Given the description of an element on the screen output the (x, y) to click on. 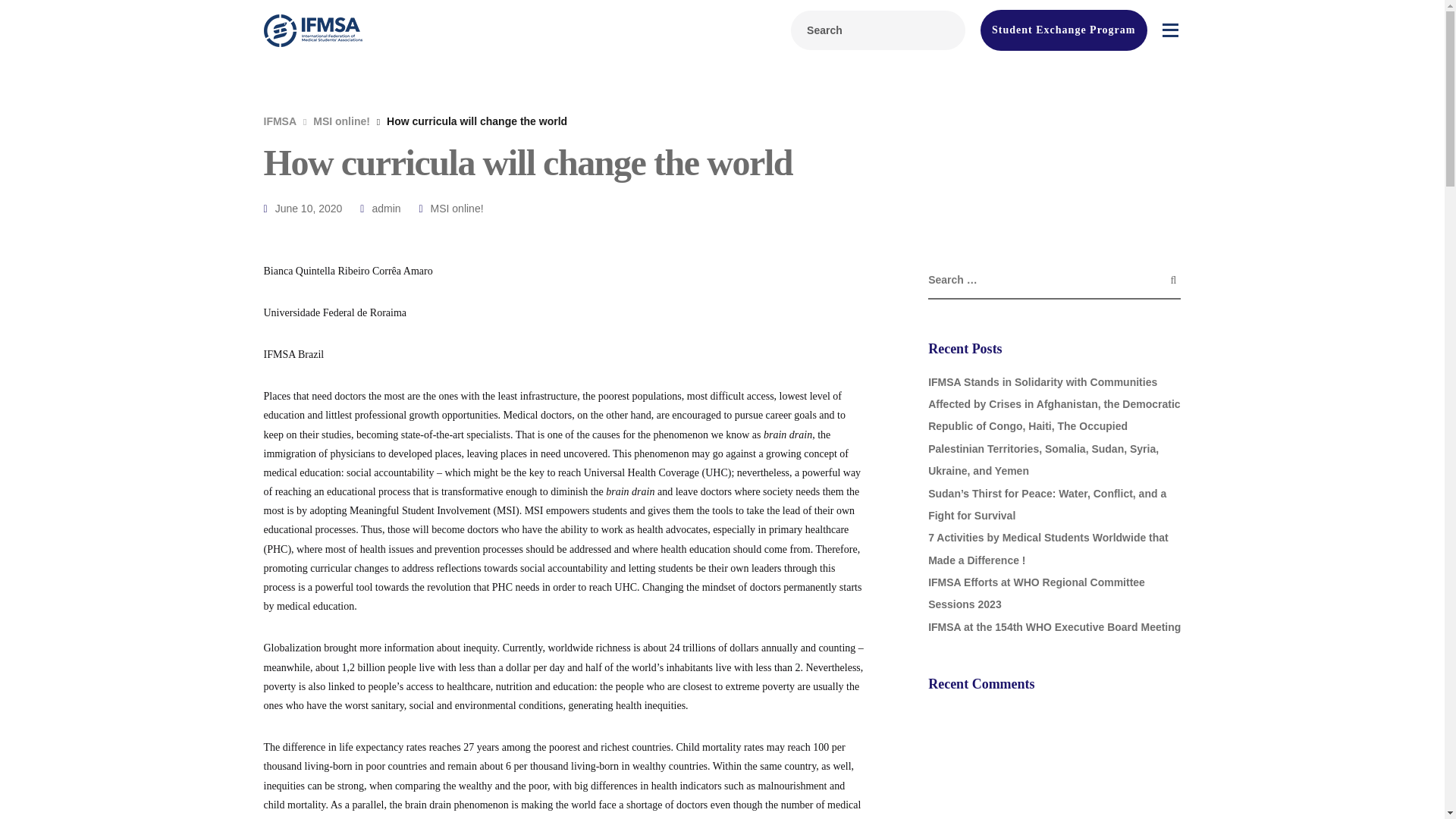
Go to the MSI online! Category archives. (341, 121)
Student Exchange Program (1063, 29)
MSI online! (341, 121)
admin (385, 208)
Posts by admin (385, 208)
IFMSA Efforts at WHO Regional Committee Sessions 2023 (1036, 593)
Go to IFMSA. (280, 121)
MSI online! (456, 208)
IFMSA at the 154th WHO Executive Board Meeting (1054, 626)
Student Exchange Program (1063, 29)
IFMSA (280, 121)
